Given the description of an element on the screen output the (x, y) to click on. 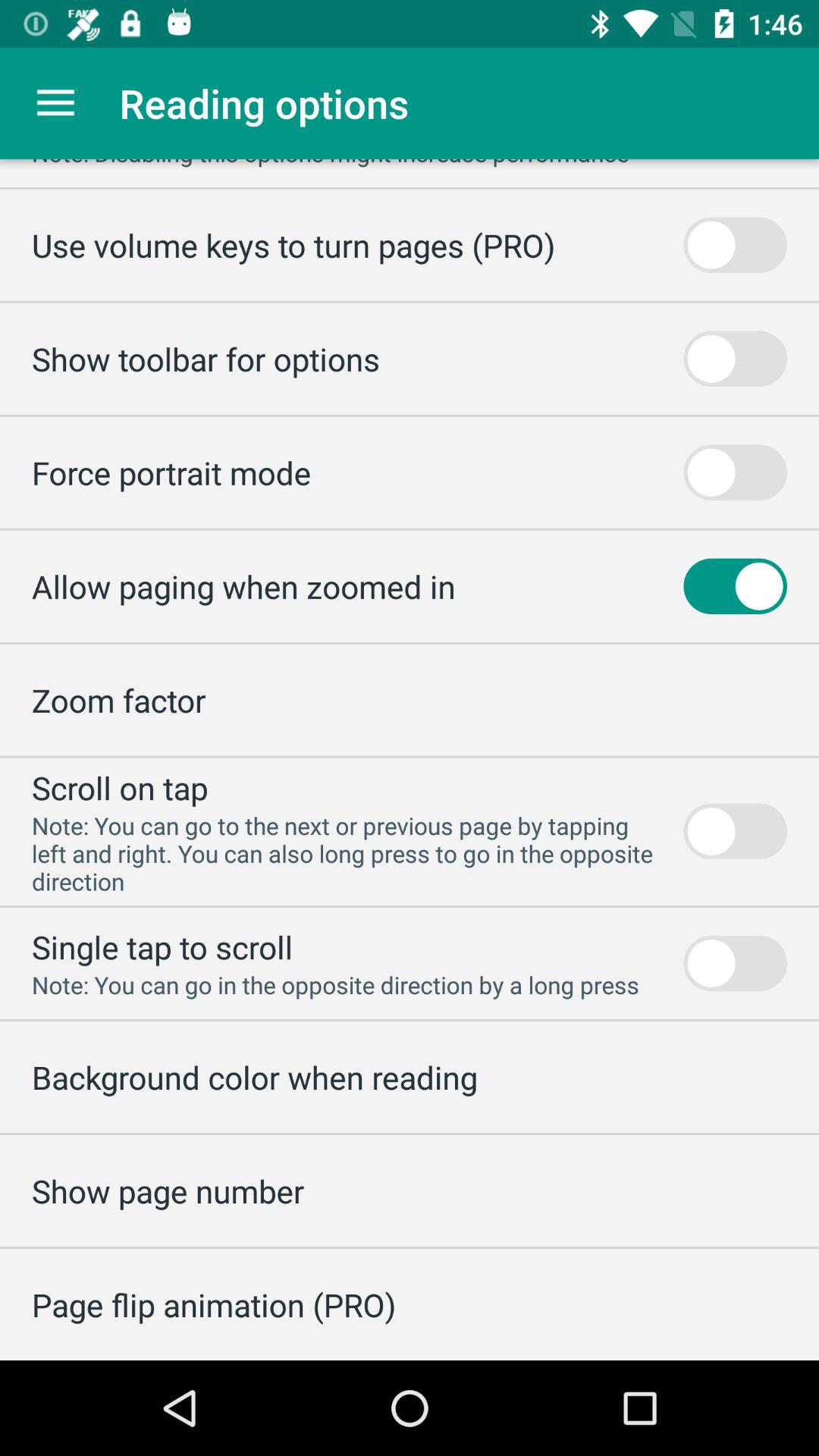
tap item above the note disabling this icon (55, 103)
